Given the description of an element on the screen output the (x, y) to click on. 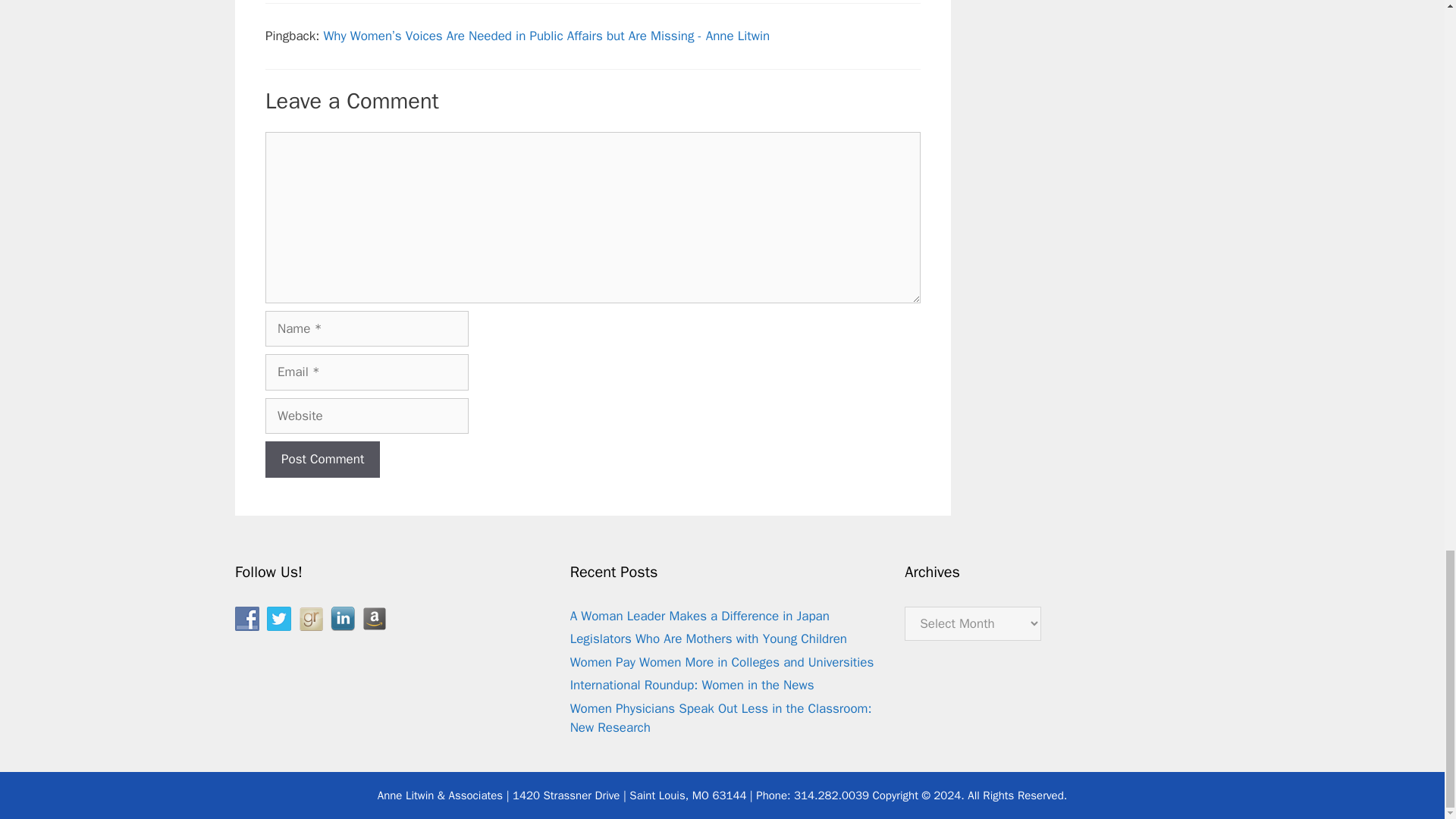
Post Comment (322, 459)
